Given the description of an element on the screen output the (x, y) to click on. 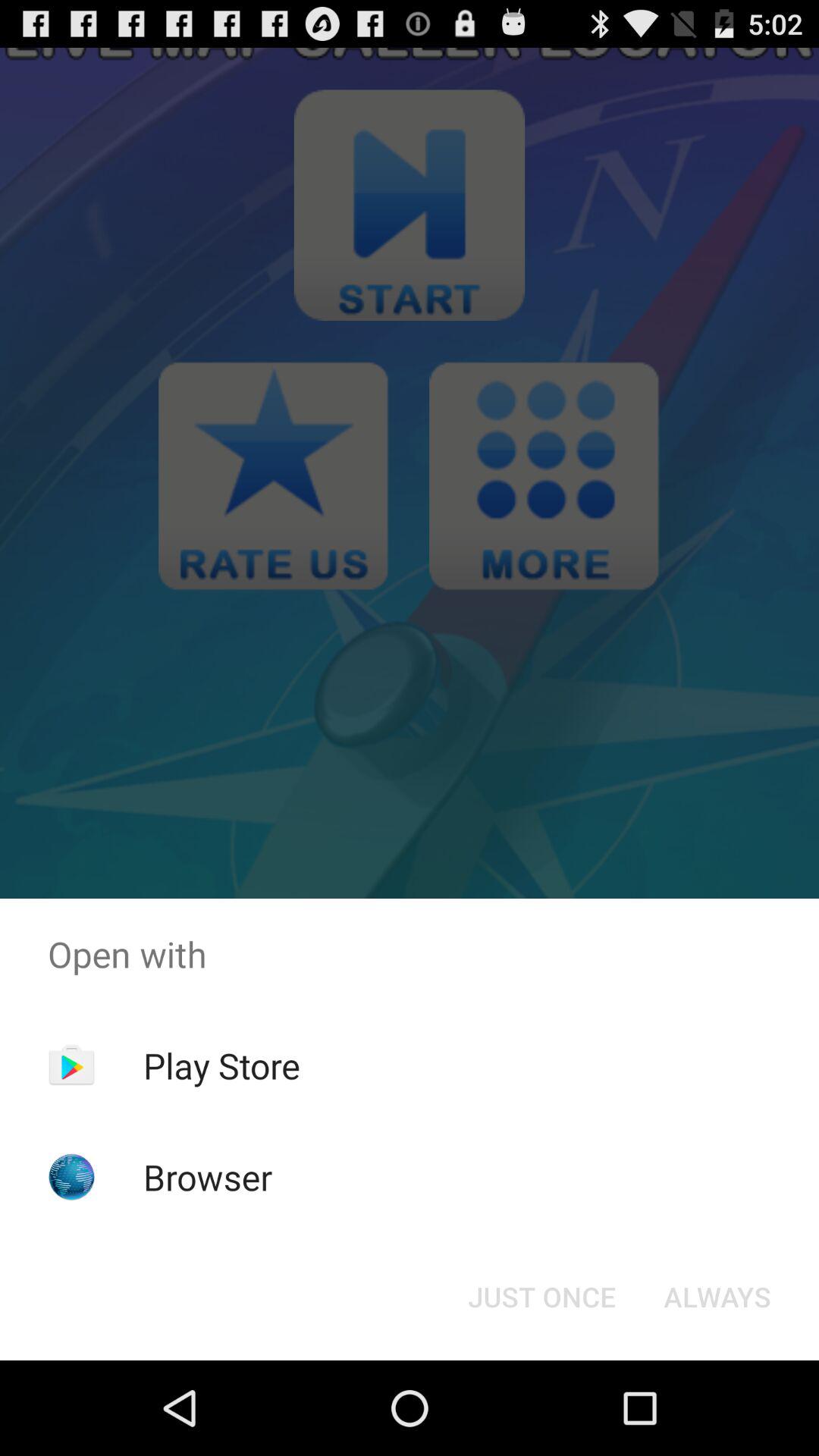
select the button next to just once icon (717, 1296)
